Given the description of an element on the screen output the (x, y) to click on. 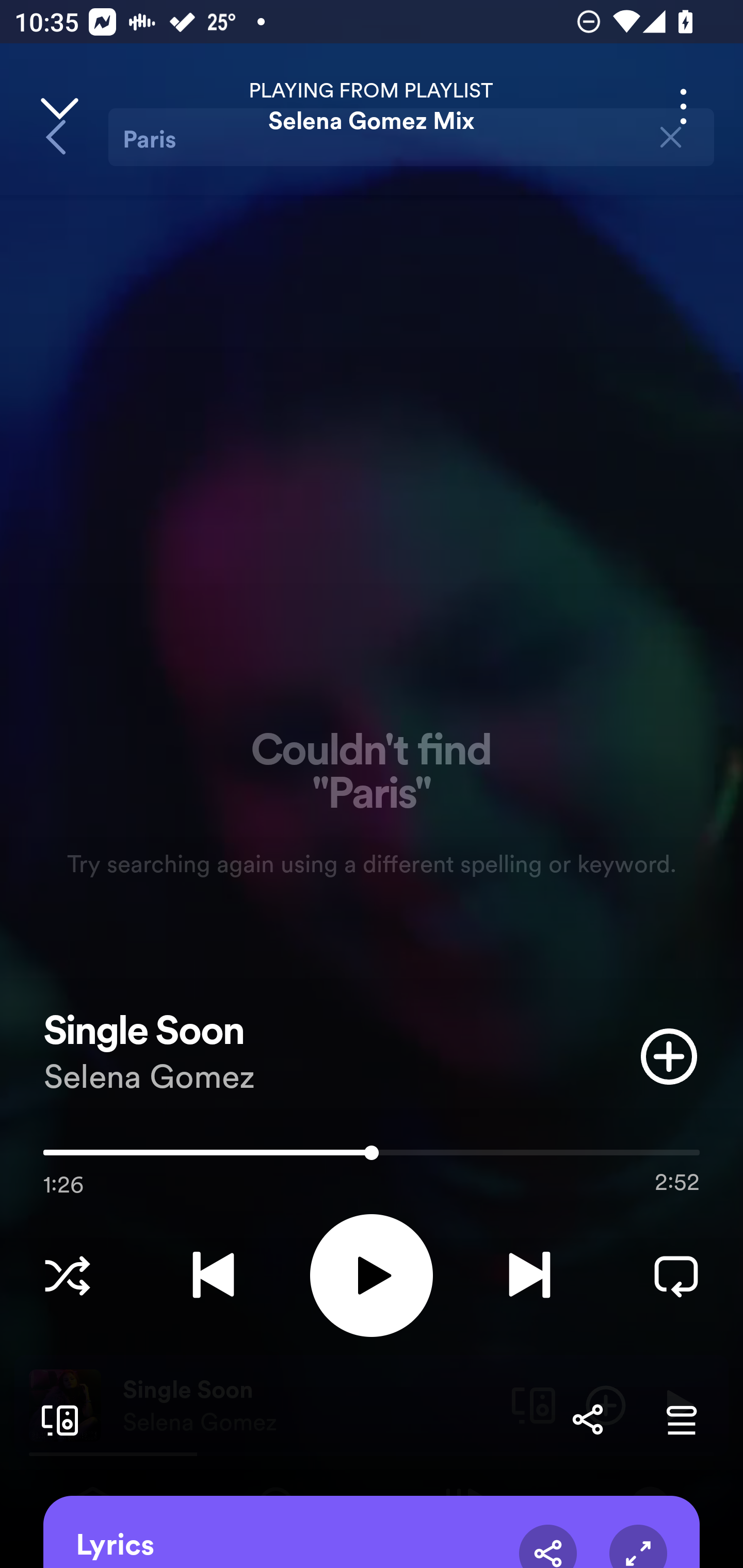
Close (59, 106)
More options for song Single Soon (683, 106)
PLAYING FROM PLAYLIST Selena Gomez Mix (371, 106)
Add item (669, 1056)
1:26 2:52 86000.0 Use volume keys to adjust (371, 1157)
Play (371, 1275)
Previous (212, 1275)
Next (529, 1275)
Choose a Listening Mode (66, 1275)
Repeat (676, 1275)
Share (587, 1419)
Go to Queue (681, 1419)
Connect to a device. Opens the devices menu (55, 1419)
Lyrics Share Expand (371, 1531)
Share (547, 1546)
Expand (638, 1546)
